Given the description of an element on the screen output the (x, y) to click on. 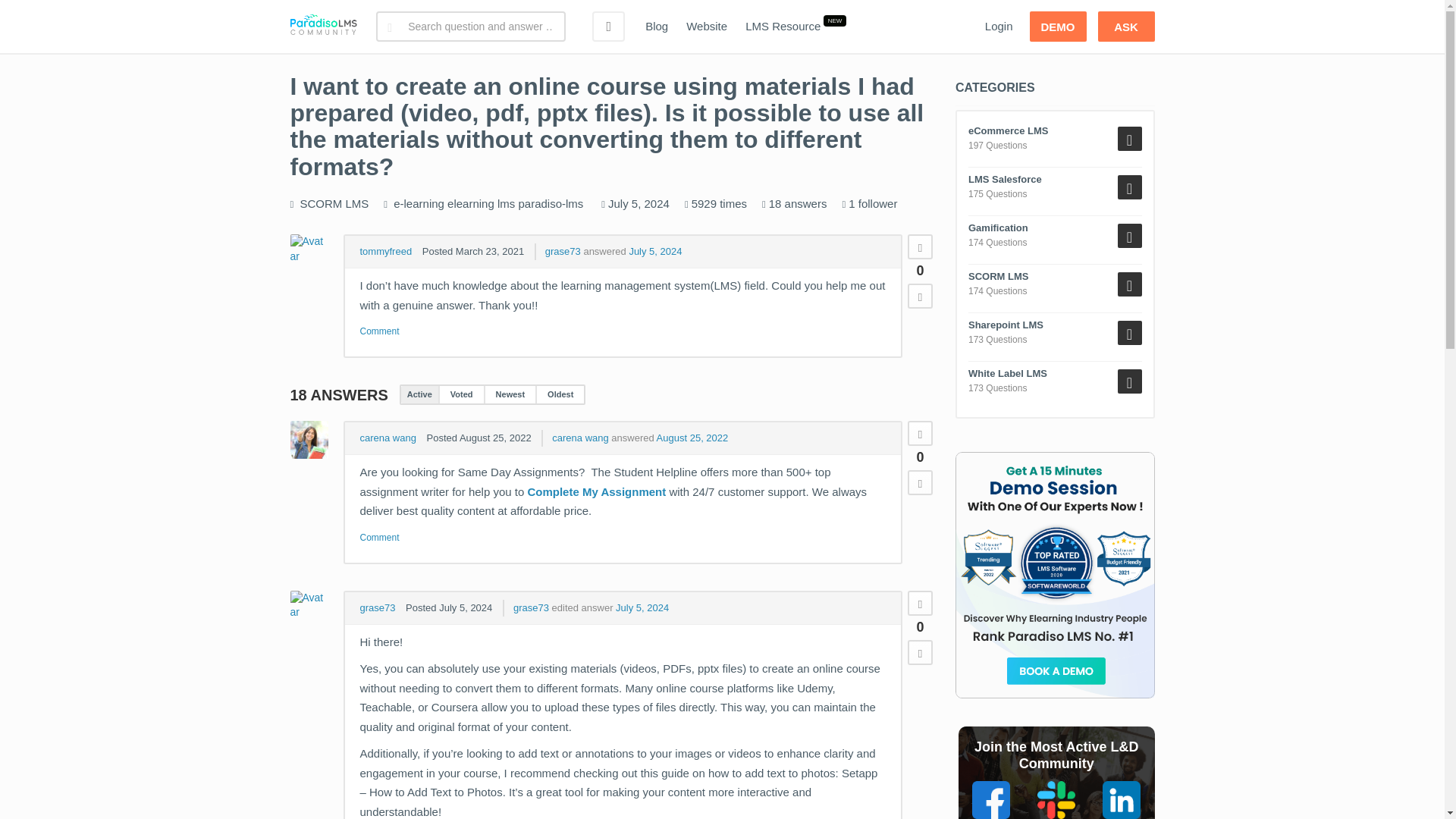
LMS Resource (782, 26)
Paradiso  Community  (323, 26)
paradiso-lms (550, 203)
Up vote this post (920, 246)
Website (706, 26)
Login (998, 26)
July 5, 2024 (654, 251)
DEMO (1057, 26)
Website (706, 26)
e-learning (418, 203)
elearning (470, 203)
tommyfreed (385, 251)
Up vote this post (920, 432)
All you need to know or ask about SCORM (333, 203)
Search for: (470, 26)
